Given the description of an element on the screen output the (x, y) to click on. 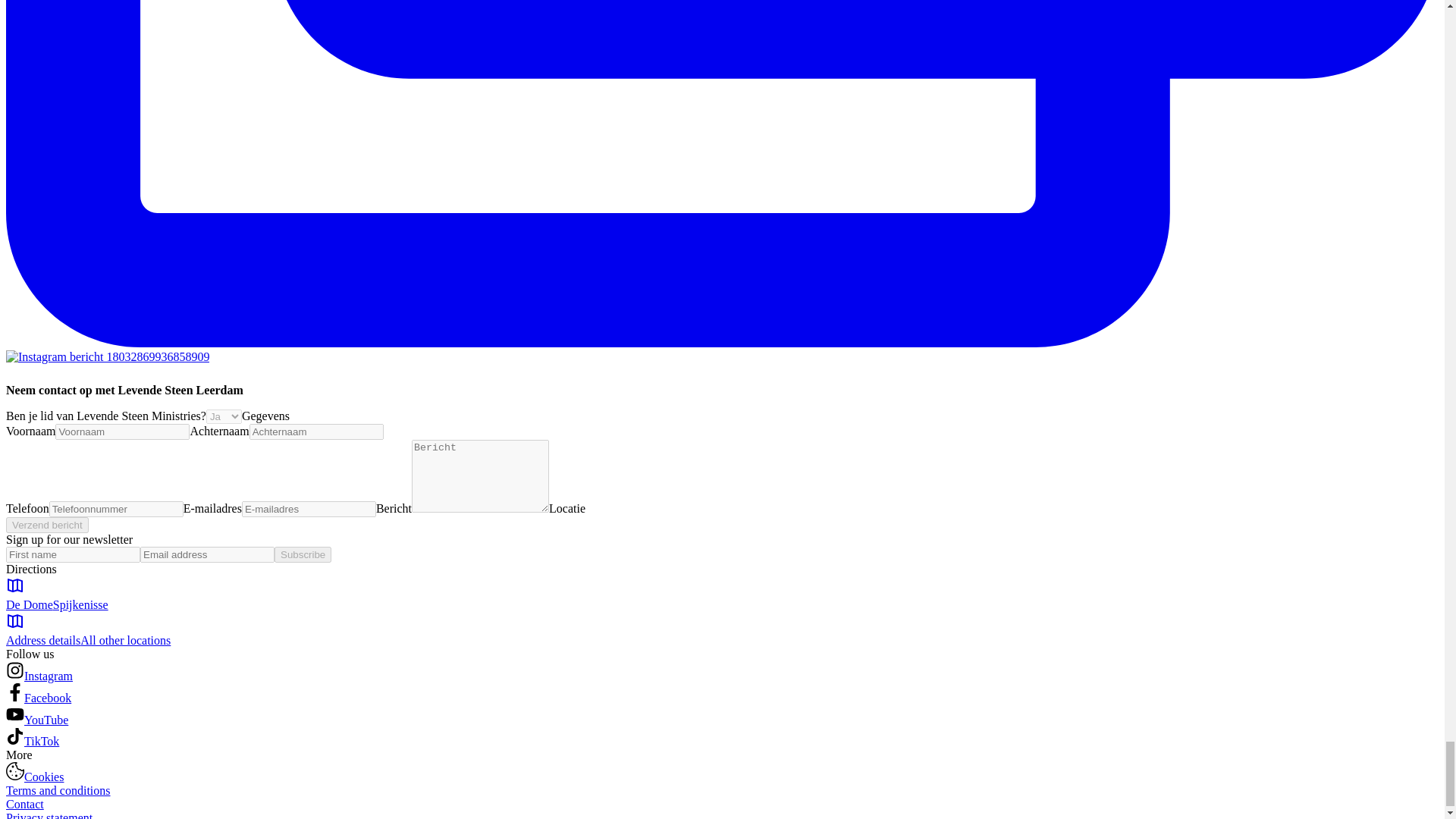
Contact (24, 803)
Cookies (44, 776)
Verzend bericht (46, 524)
Subscribe (303, 554)
TikTok (41, 740)
Facebook (47, 697)
YouTube (46, 719)
Subscribe (303, 554)
Instagram (48, 675)
Terms and conditions (57, 789)
